Given the description of an element on the screen output the (x, y) to click on. 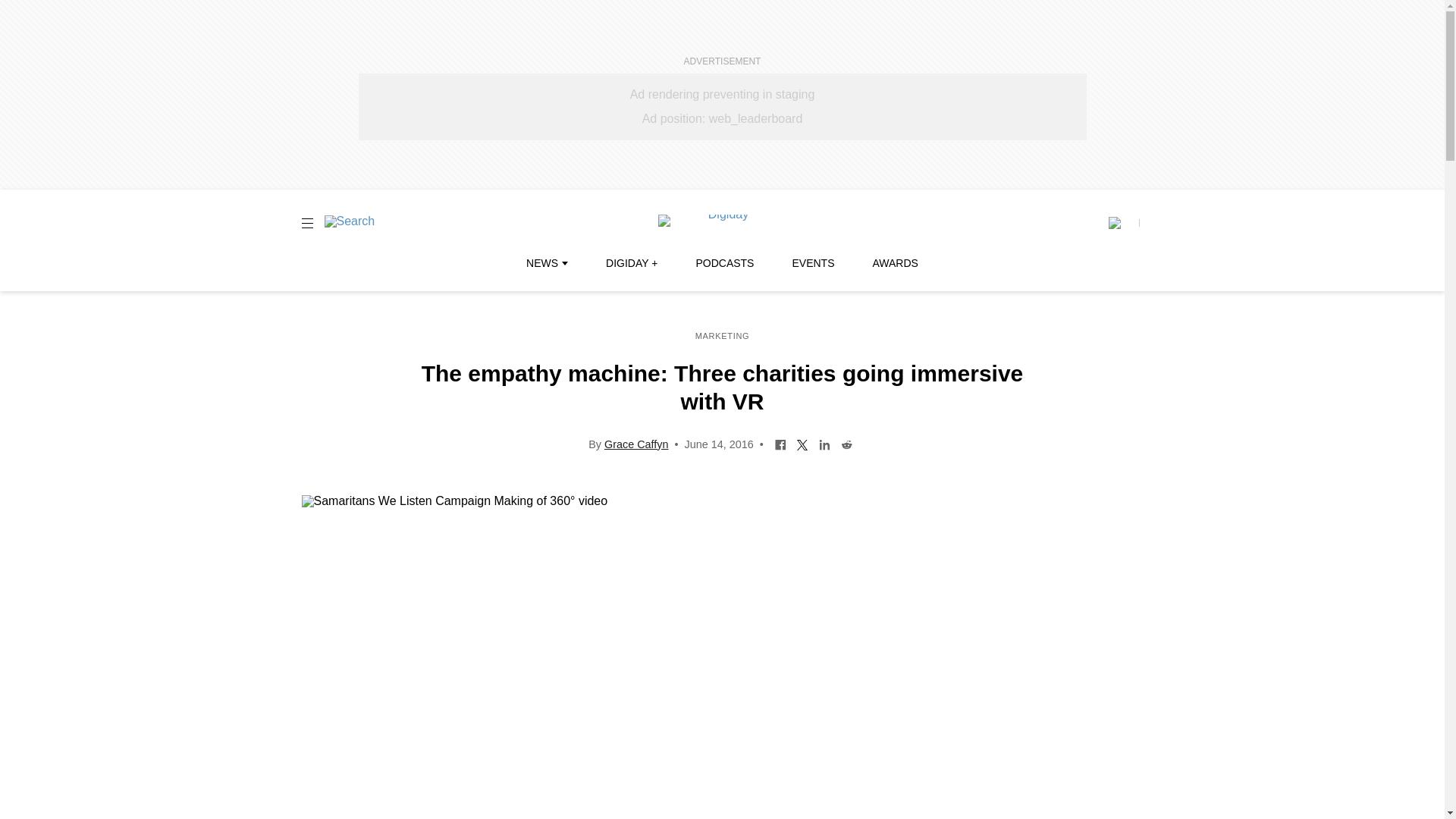
Share on Facebook (780, 443)
NEWS (546, 262)
Share on Twitter (802, 443)
Subscribe (1123, 223)
AWARDS (894, 262)
EVENTS (813, 262)
PODCASTS (725, 262)
Share on Reddit (846, 443)
Share on LinkedIn (824, 443)
